Given the description of an element on the screen output the (x, y) to click on. 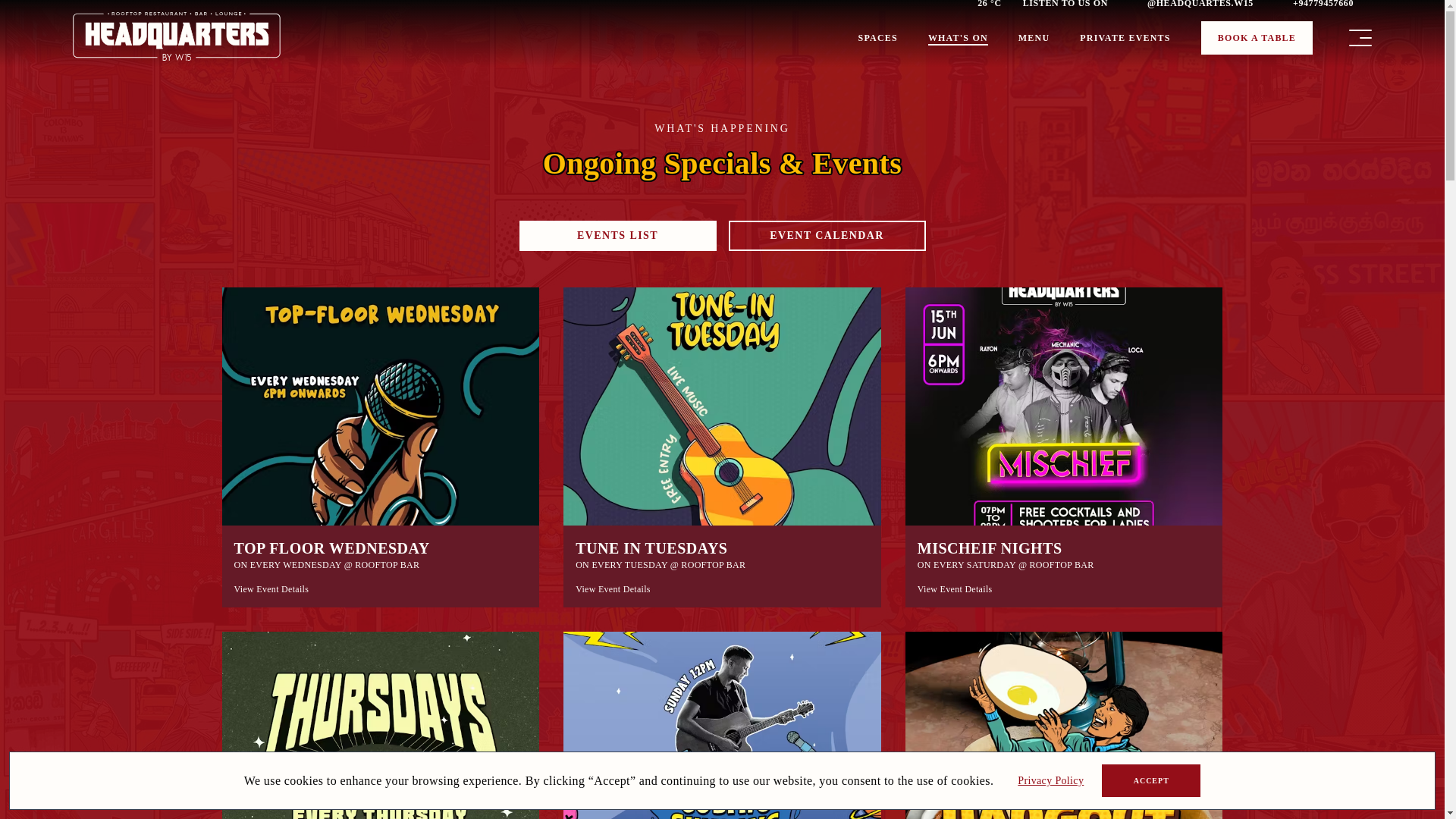
PRIVATE EVENTS (1125, 37)
LISTEN TO US ON (1074, 4)
MENU (1033, 37)
BOOK A TABLE (1257, 37)
EVENTS LIST (617, 235)
SPACES (878, 37)
WHAT'S ON (958, 37)
EVENT CALENDAR (826, 235)
